Given the description of an element on the screen output the (x, y) to click on. 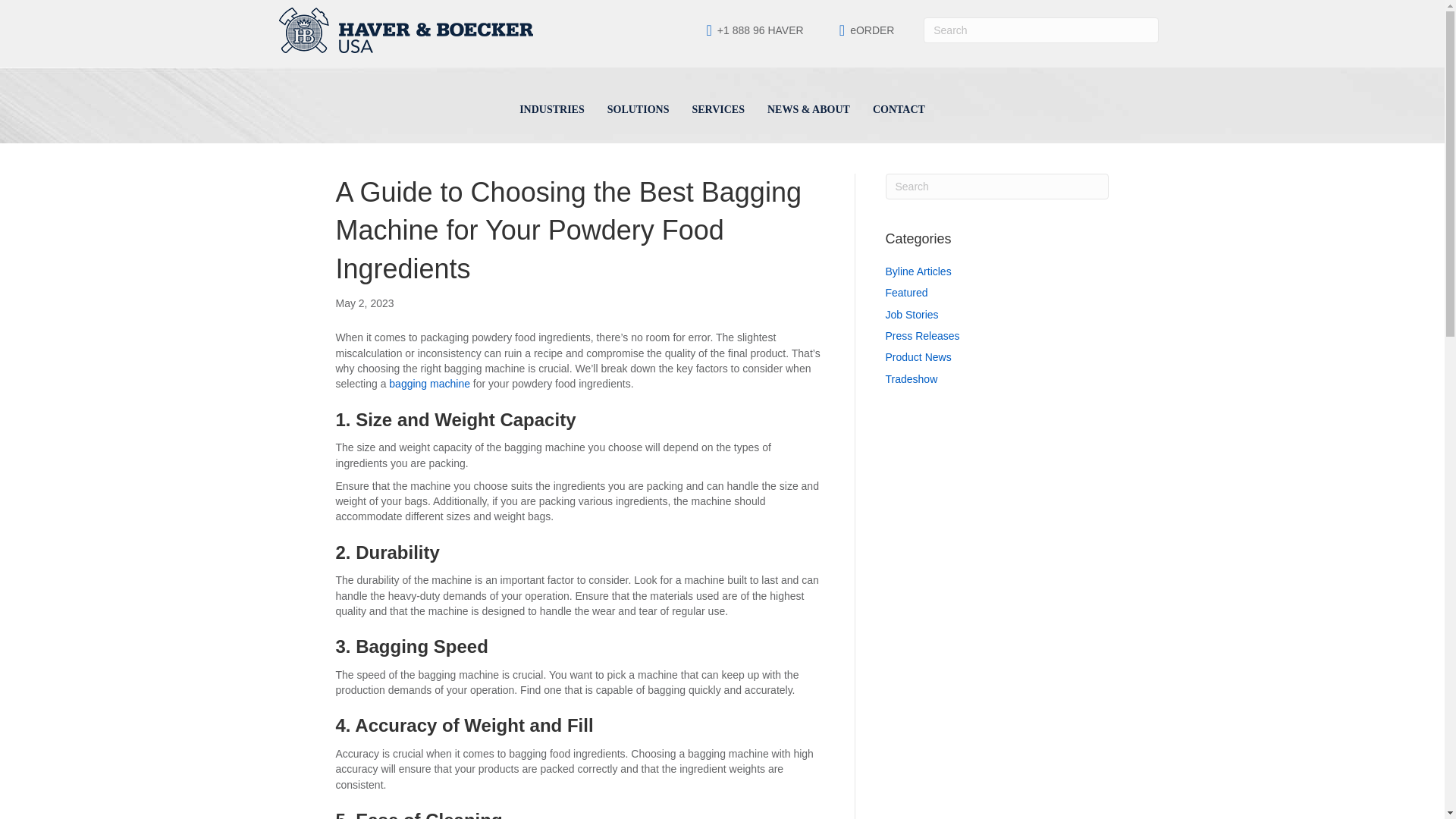
SOLUTIONS (638, 112)
Type and press Enter to search. (997, 186)
Type and press Enter to search. (1040, 29)
INDUSTRIES (551, 112)
eORDER (871, 29)
SERVICES (717, 112)
